Given the description of an element on the screen output the (x, y) to click on. 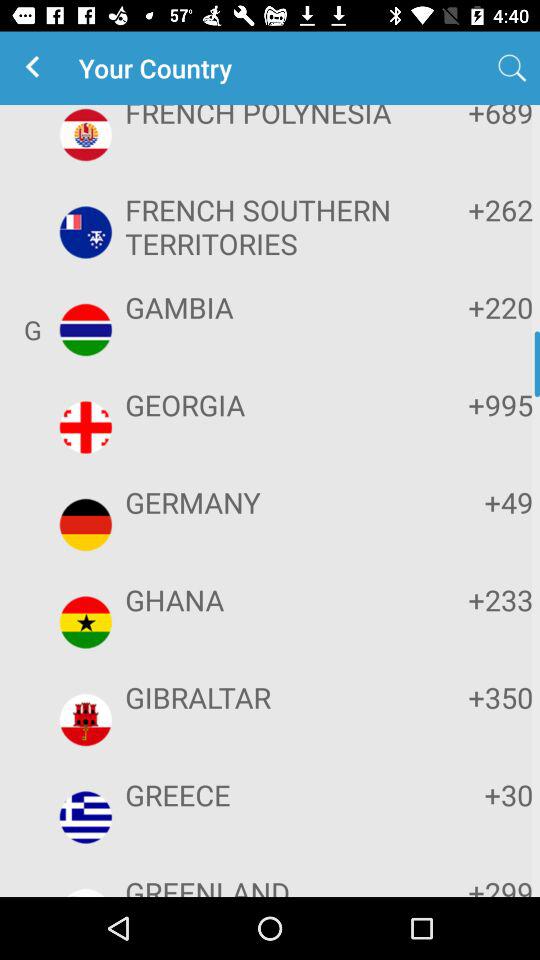
turn off item below gambia (267, 404)
